Given the description of an element on the screen output the (x, y) to click on. 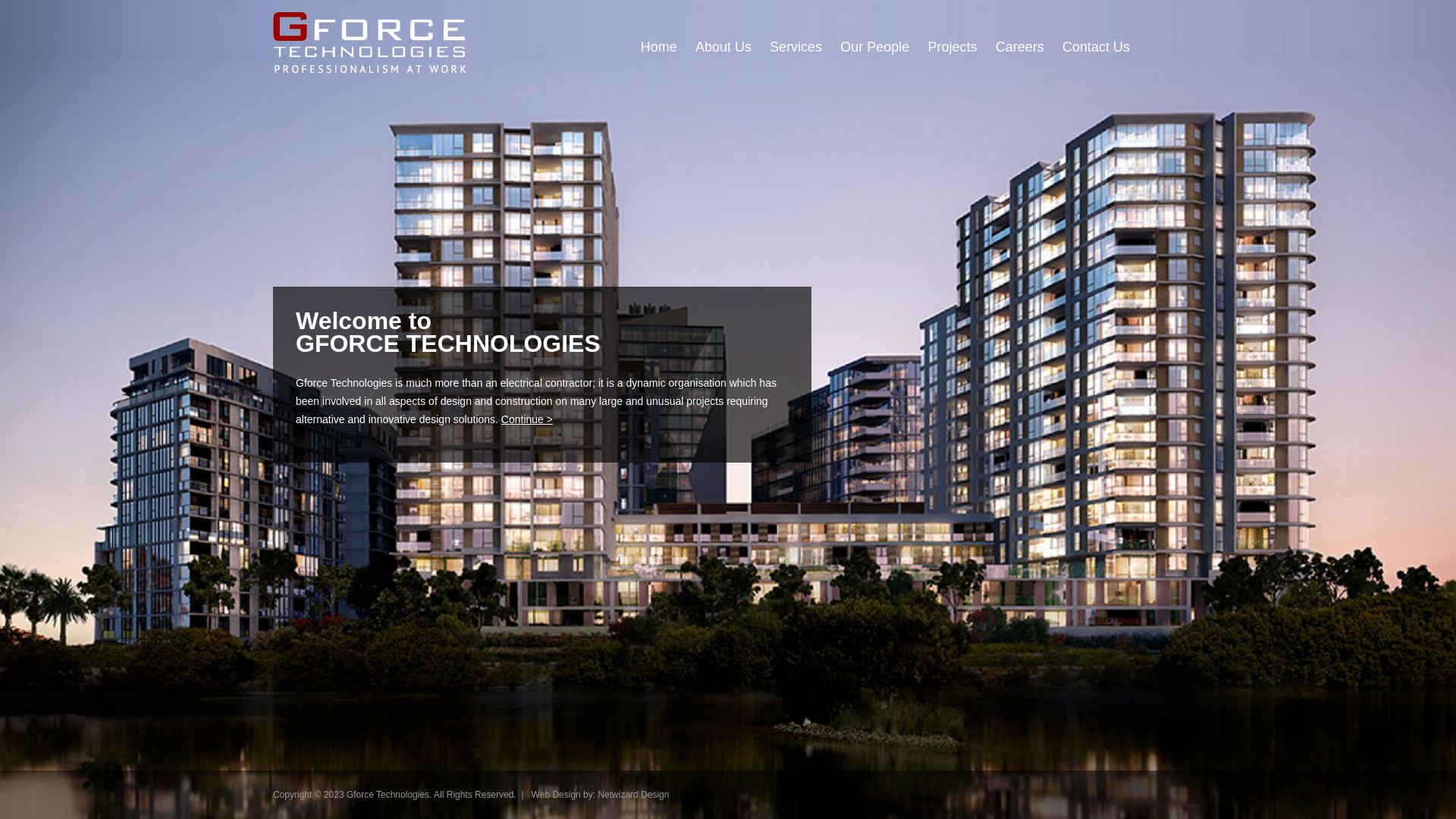
Projects Element type: text (952, 46)
About Us Element type: text (723, 46)
Services Element type: text (795, 46)
Home Element type: text (658, 46)
Contact Us Element type: text (1095, 46)
Careers Element type: text (1019, 46)
Our People Element type: text (874, 46)
Continue > Element type: text (526, 419)
Netwizard Design Element type: text (632, 794)
